Given the description of an element on the screen output the (x, y) to click on. 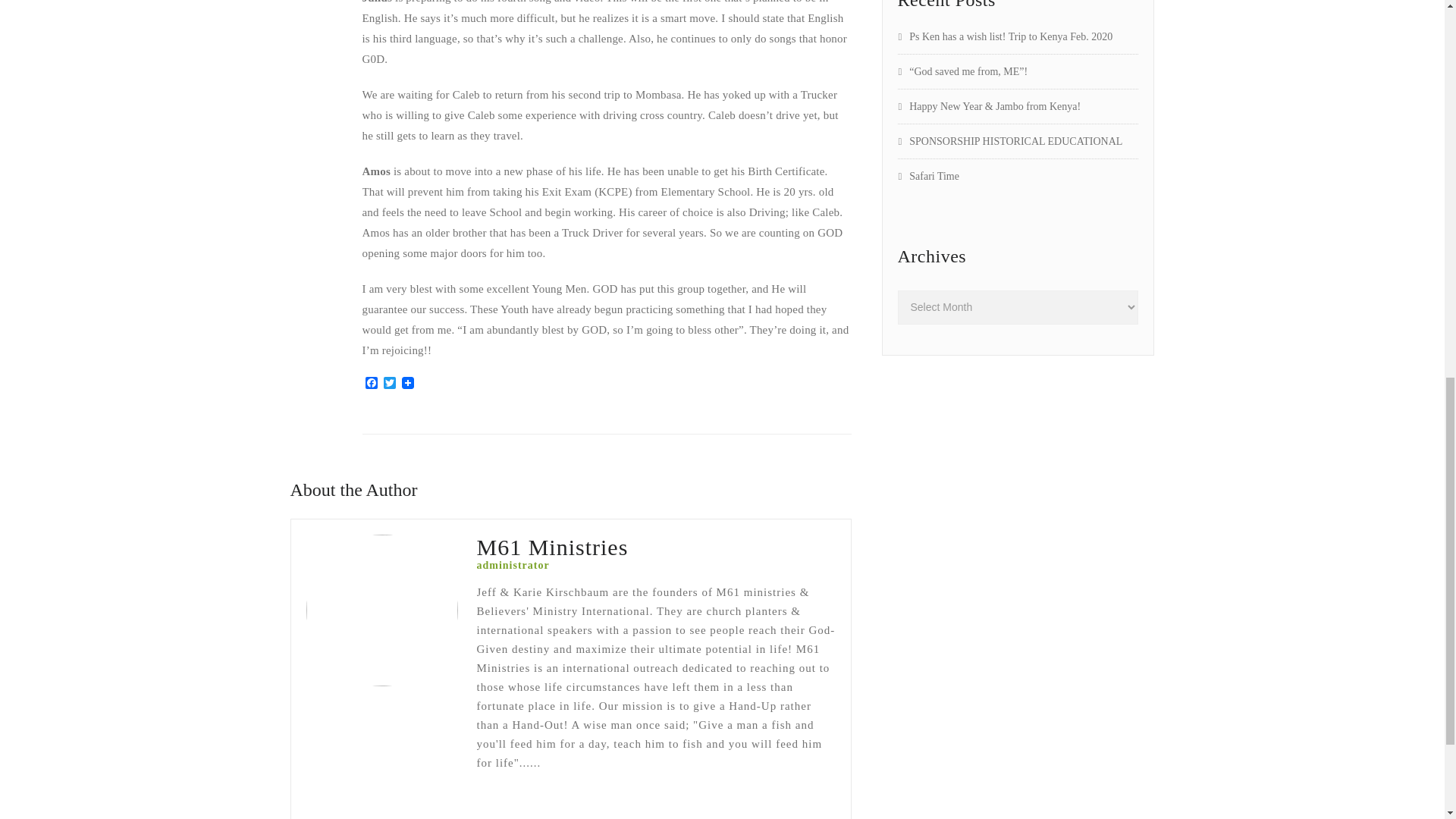
Twitter (389, 383)
Facebook (371, 383)
Facebook (371, 383)
SPONSORSHIP HISTORICAL EDUCATIONAL (1010, 141)
Safari Time (928, 175)
Twitter (389, 383)
Ps Ken has a wish list! Trip to Kenya Feb. 2020 (1005, 36)
